Given the description of an element on the screen output the (x, y) to click on. 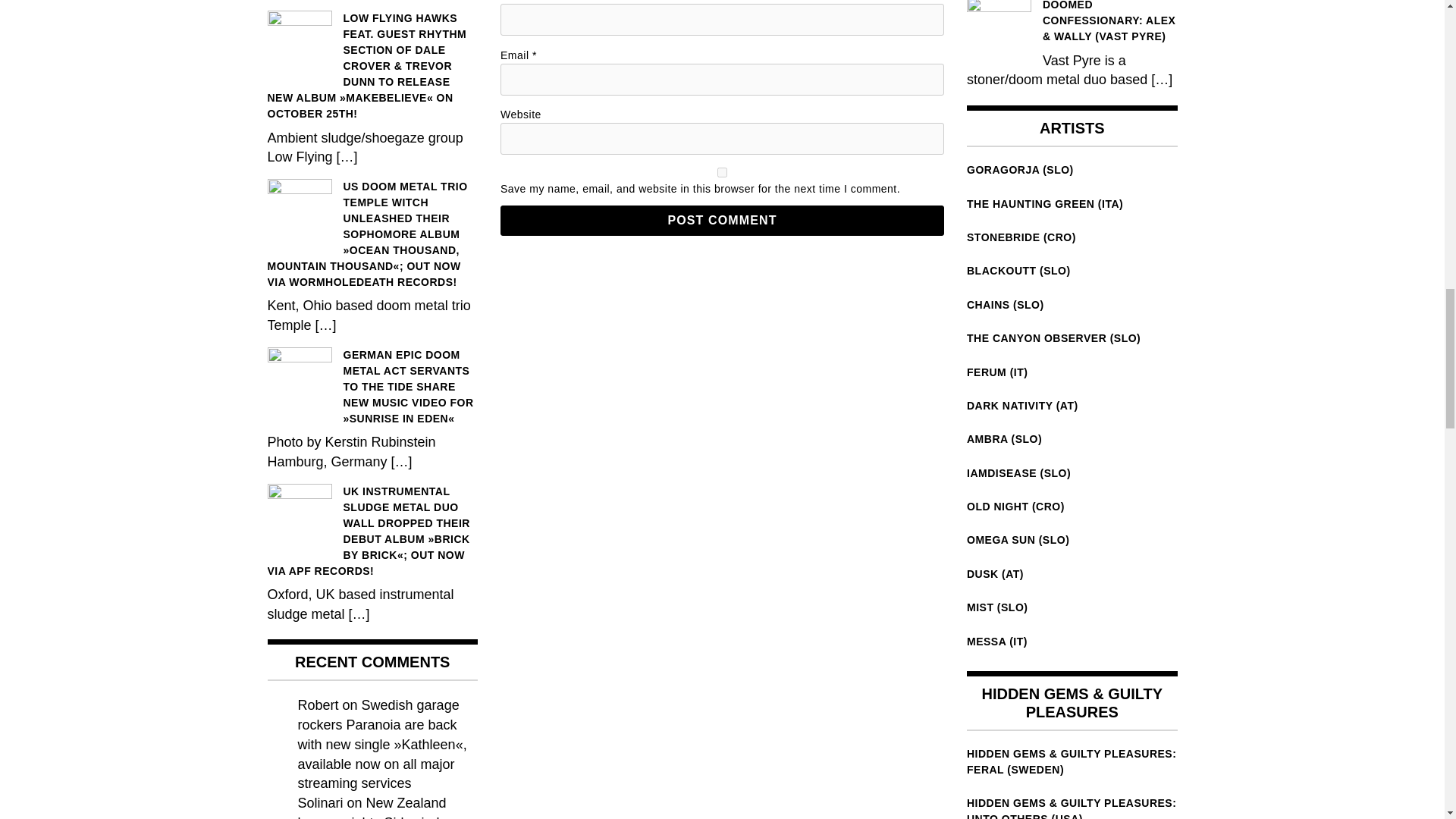
yes (721, 172)
Post Comment (721, 220)
Post Comment (721, 220)
